Given the description of an element on the screen output the (x, y) to click on. 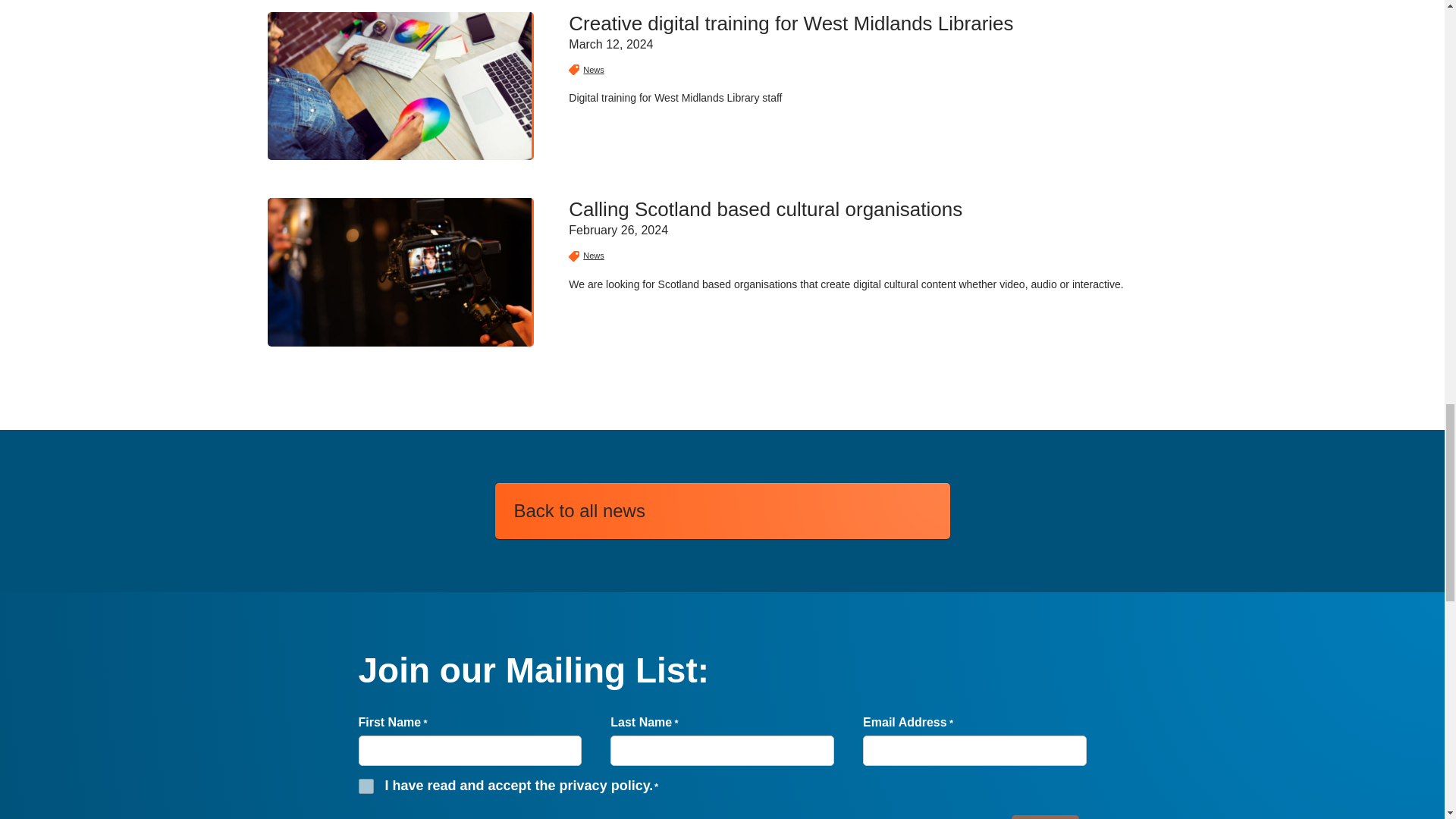
Submit (1044, 816)
1 (365, 785)
